Given the description of an element on the screen output the (x, y) to click on. 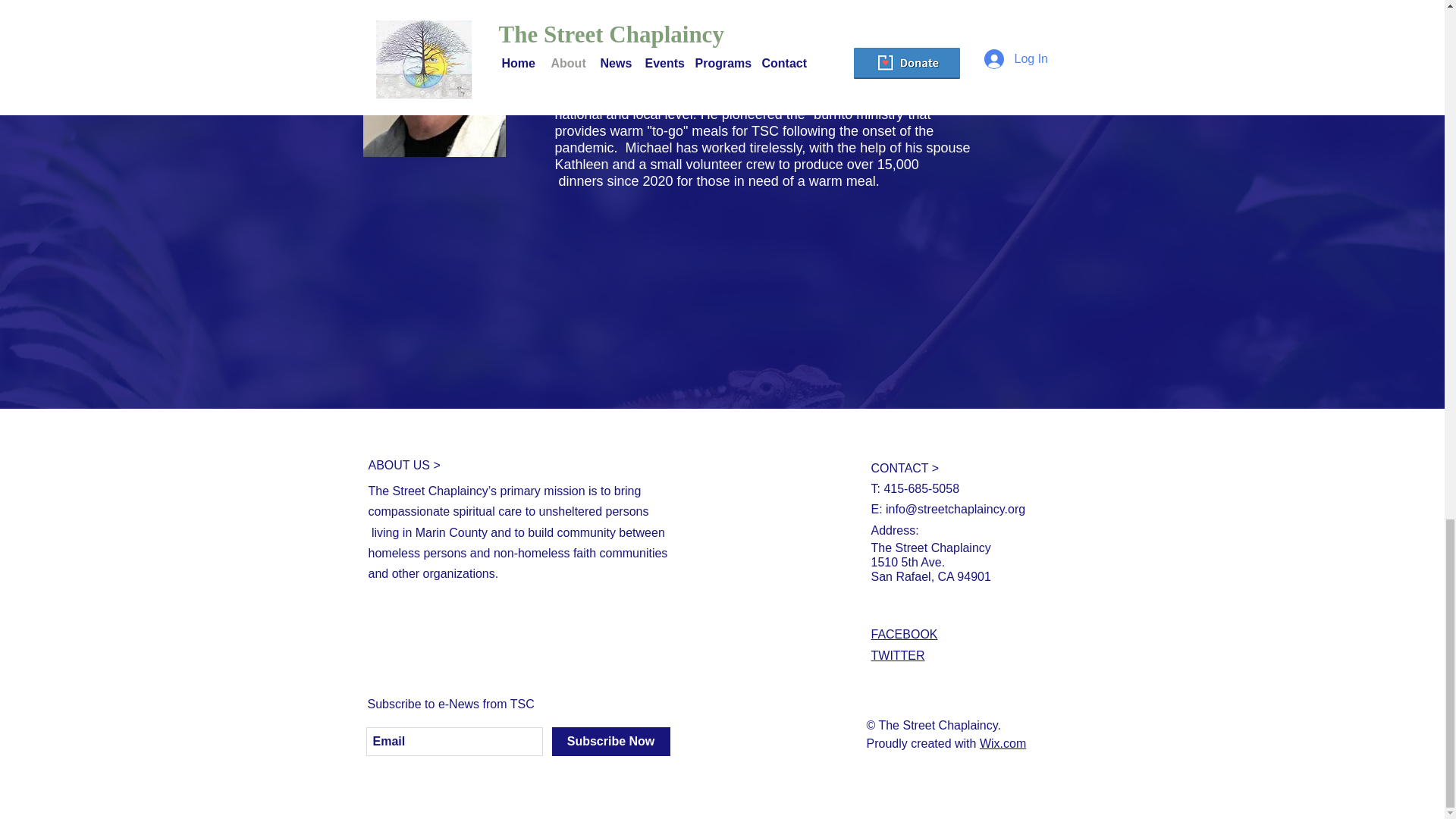
Subscribe Now (610, 741)
Wix.com (1002, 743)
TWITTER (897, 655)
FACEBOOK (903, 634)
